Given the description of an element on the screen output the (x, y) to click on. 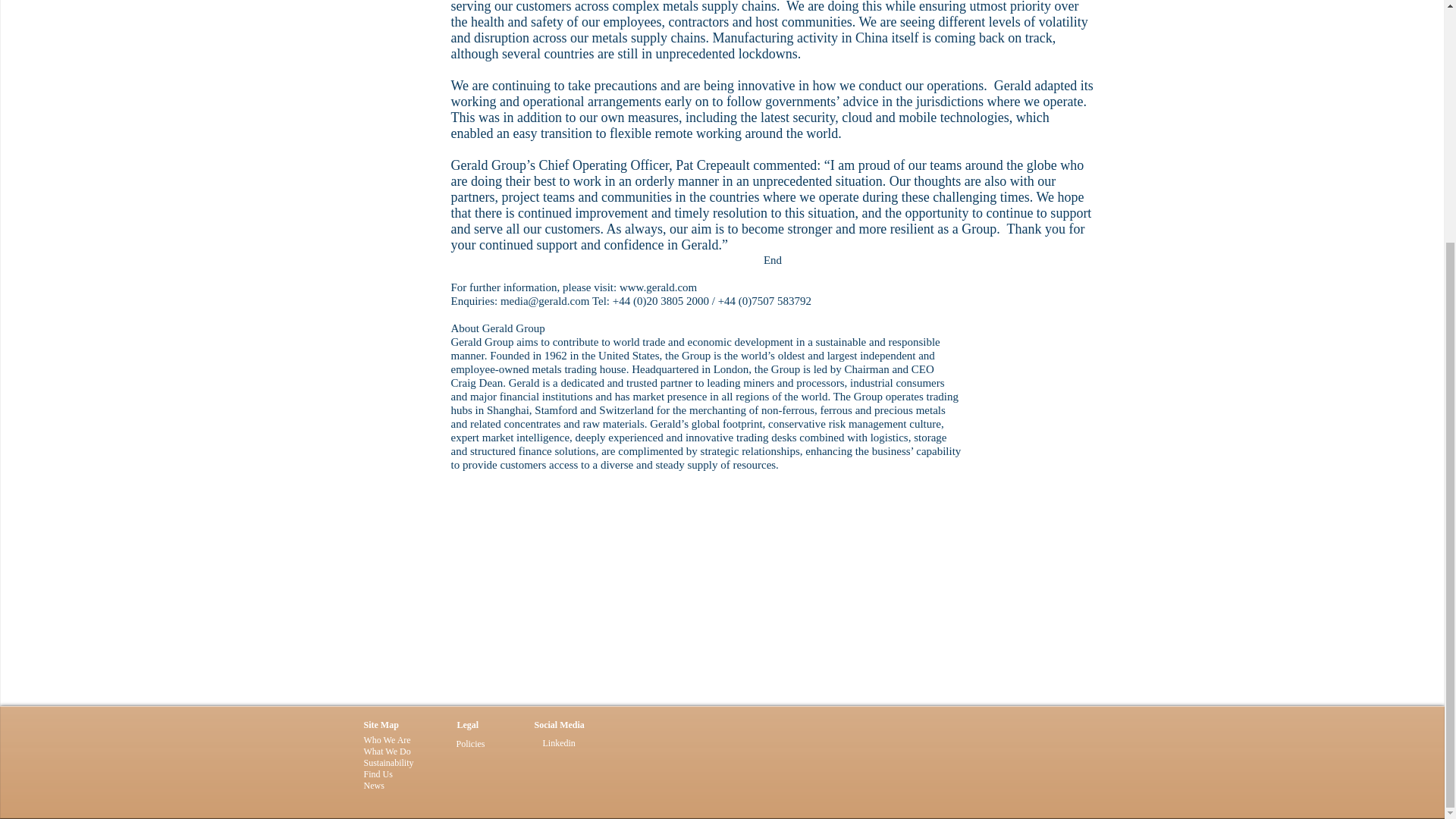
News (374, 785)
Find Us (378, 774)
www.gerald.com (658, 287)
What We Do (387, 751)
Legal (468, 724)
Site Map (381, 724)
Linkedin (559, 742)
Who We Are (387, 739)
Sustainability (388, 762)
Social Media (558, 724)
